Given the description of an element on the screen output the (x, y) to click on. 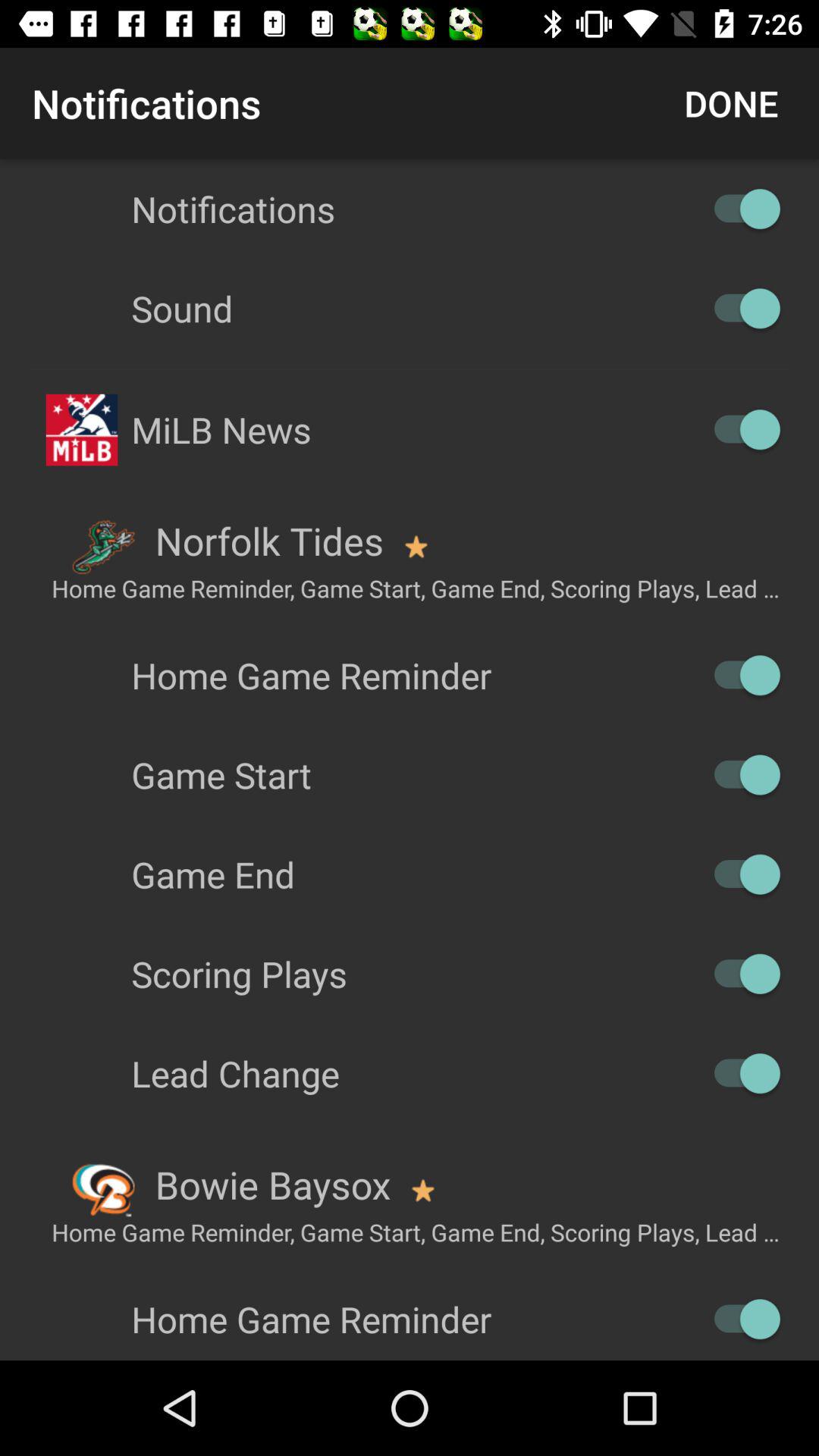
switch toggle option (739, 209)
